Given the description of an element on the screen output the (x, y) to click on. 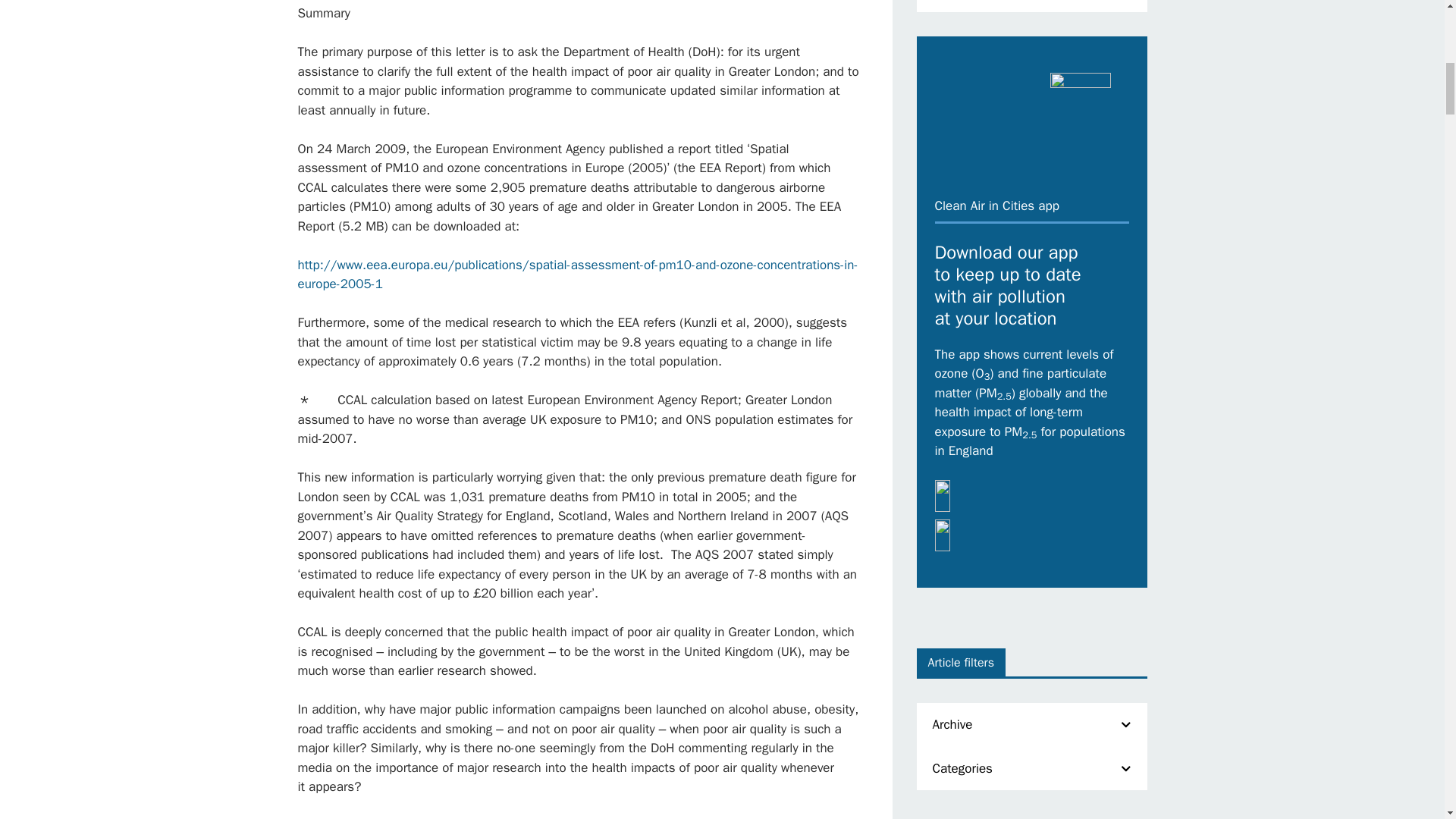
cta-clean-air-app-logo (1079, 97)
